Given the description of an element on the screen output the (x, y) to click on. 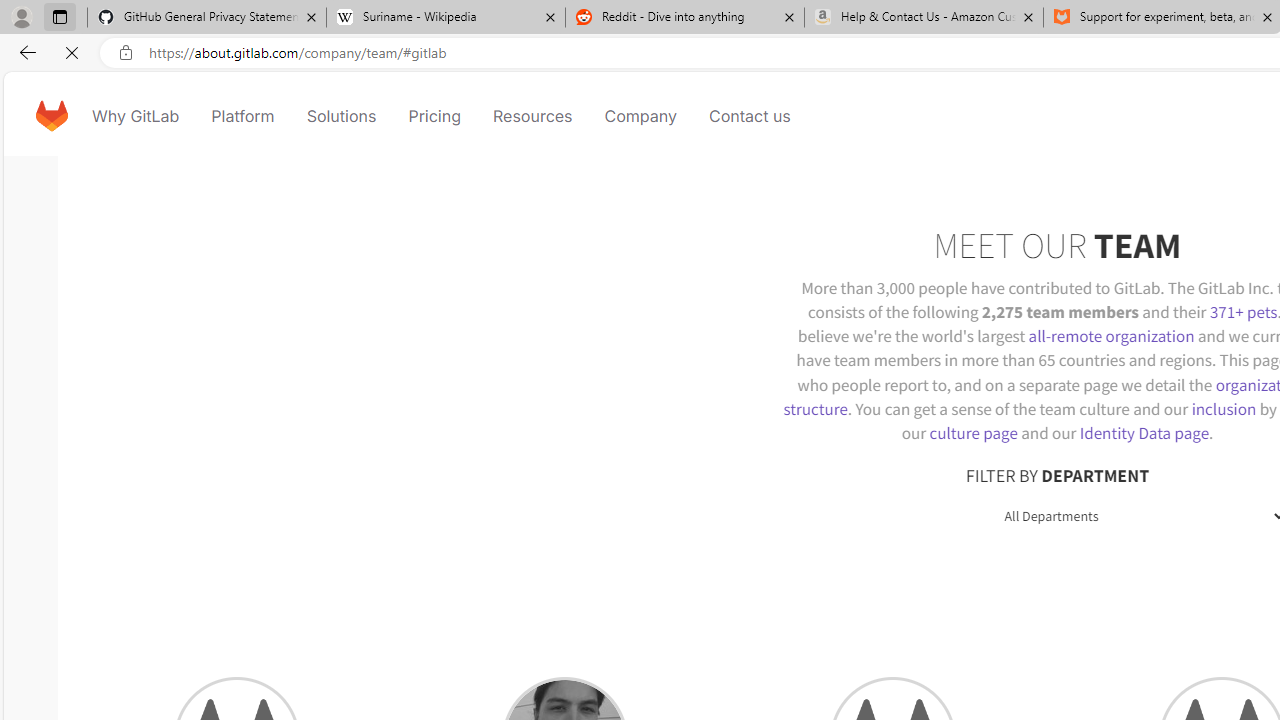
GitLab home page (51, 115)
Solutions (341, 115)
Help & Contact Us - Amazon Customer Service - Sleeping (924, 17)
Platform (242, 115)
Why GitLab (136, 115)
Pricing (433, 115)
Contact us (749, 115)
Company (640, 115)
Company (640, 115)
Why GitLab (136, 115)
